Given the description of an element on the screen output the (x, y) to click on. 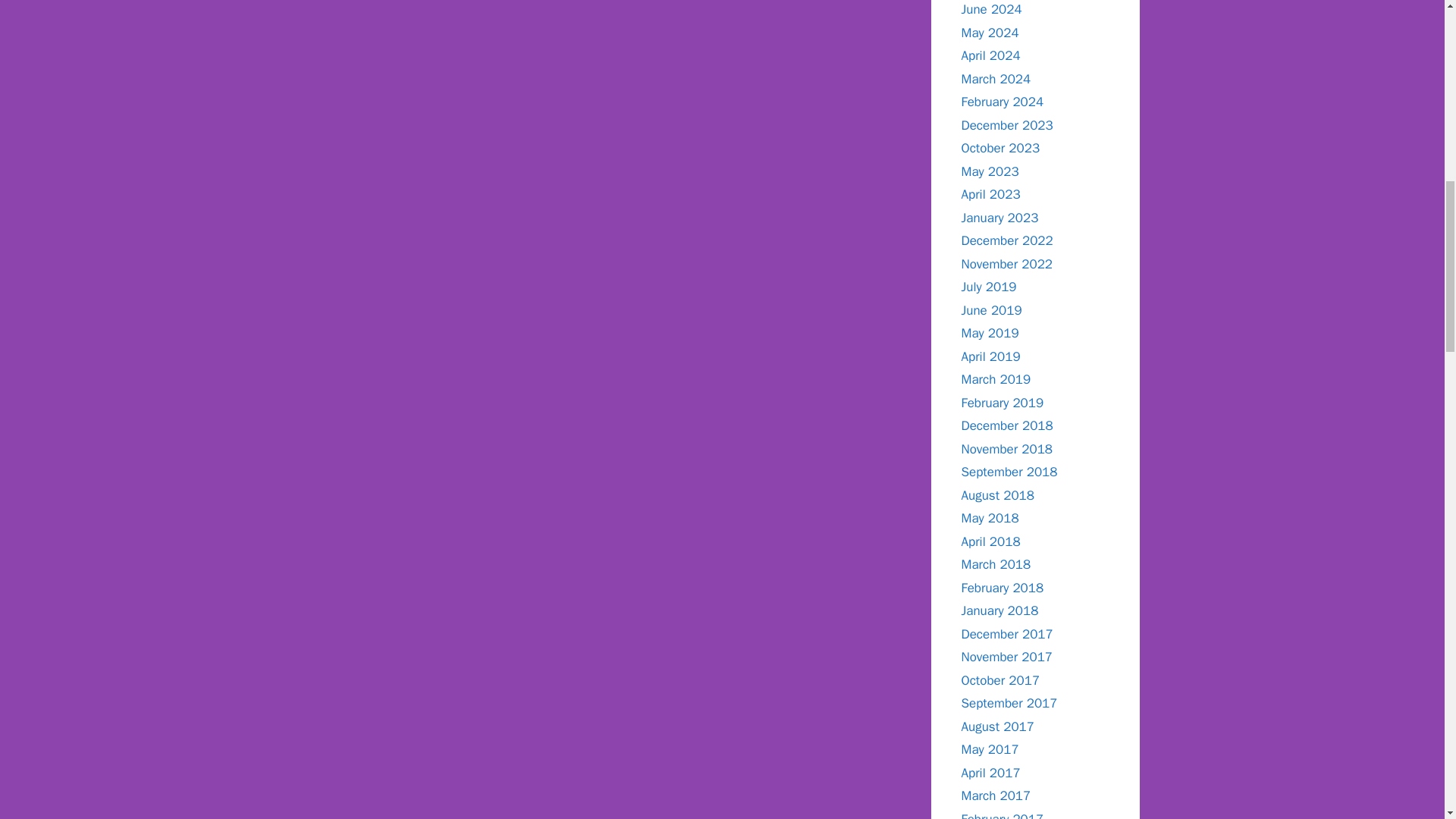
September 2018 (1009, 471)
February 2024 (1001, 101)
March 2019 (995, 379)
November 2022 (1006, 263)
August 2018 (996, 494)
December 2018 (1006, 425)
April 2023 (990, 194)
December 2022 (1006, 240)
March 2024 (995, 78)
October 2023 (1000, 148)
